Given the description of an element on the screen output the (x, y) to click on. 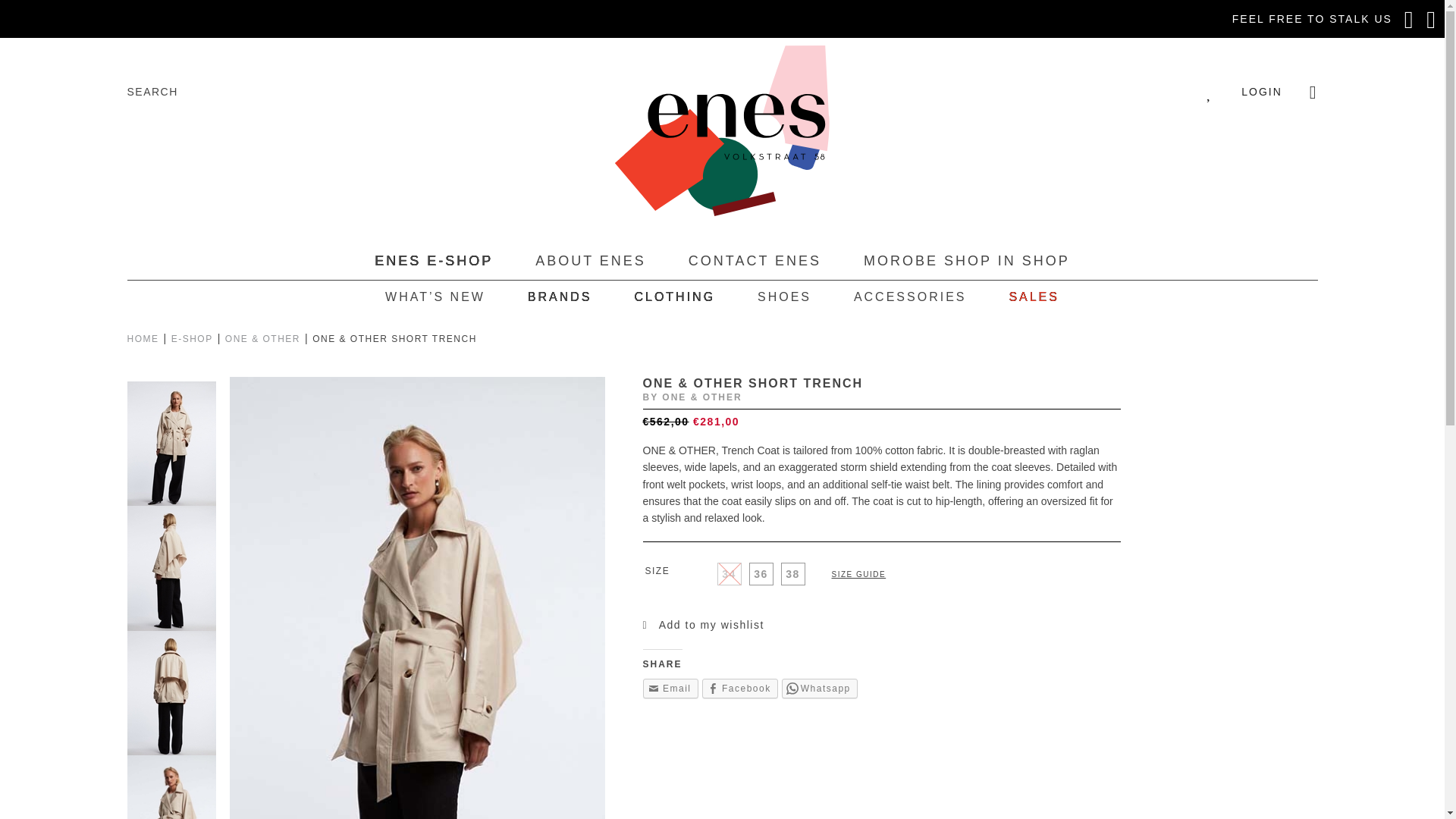
LOGIN (1261, 91)
FEEL FREE TO STALK US (1311, 19)
Go to Enes. (144, 338)
Click to share on Whatsapp (819, 688)
Go to E-shop. (193, 338)
Log In (1039, 260)
Click to share on Facebook (739, 688)
Size Guide (858, 574)
Click to email this to a friend (670, 688)
BRANDS (559, 297)
ENES E-SHOP (433, 260)
